Given the description of an element on the screen output the (x, y) to click on. 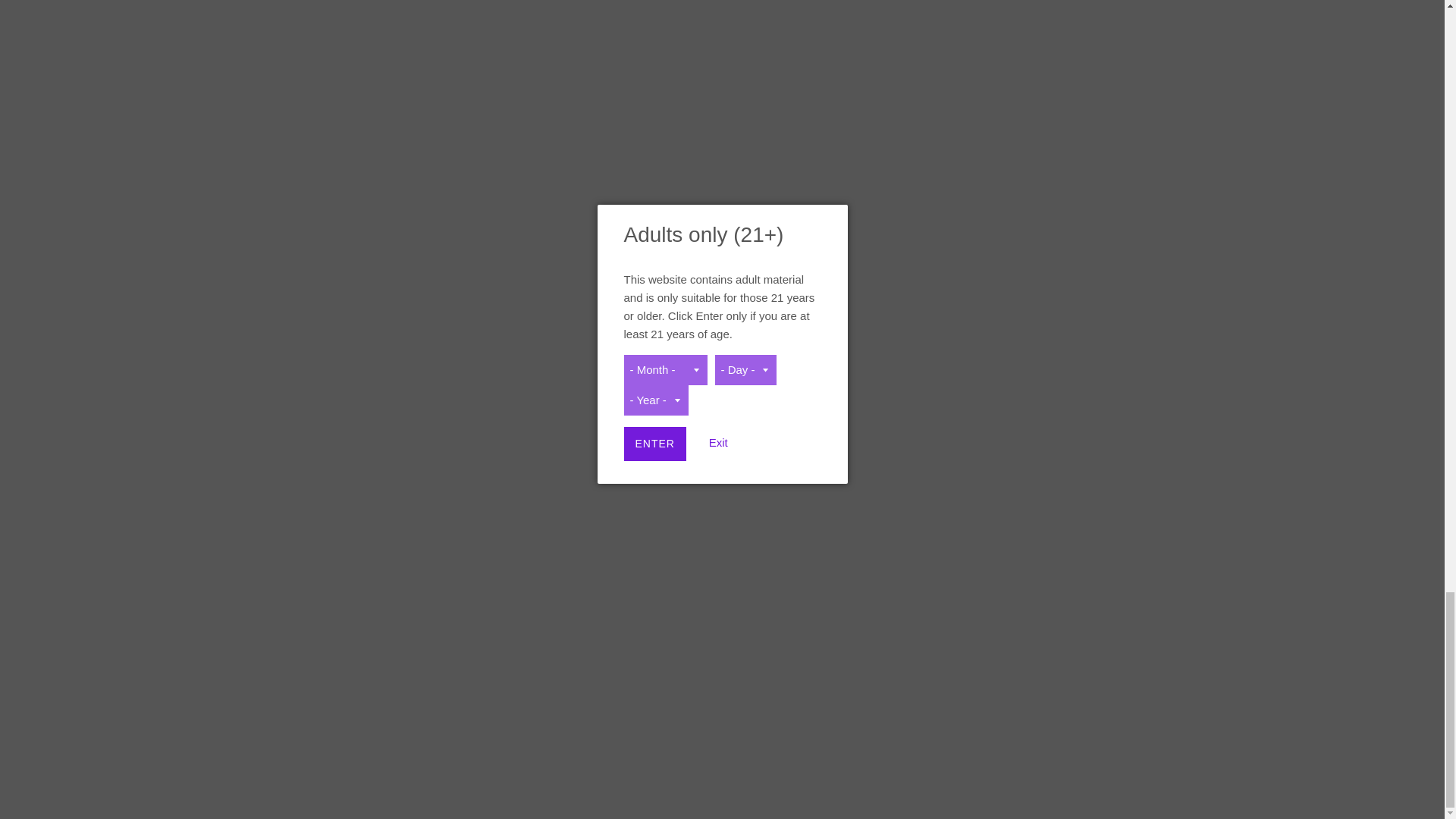
Diners Club (973, 787)
Venmo (1138, 787)
PayPal (1104, 787)
Goodfellas SF on Twitter (289, 456)
Goodfellas SF on Facebook (267, 456)
American Express (942, 787)
Discover (1007, 787)
Mastercard (1072, 787)
JCB (1039, 787)
Goodfellas SF on Instagram (311, 456)
Visa (1170, 787)
